Given the description of an element on the screen output the (x, y) to click on. 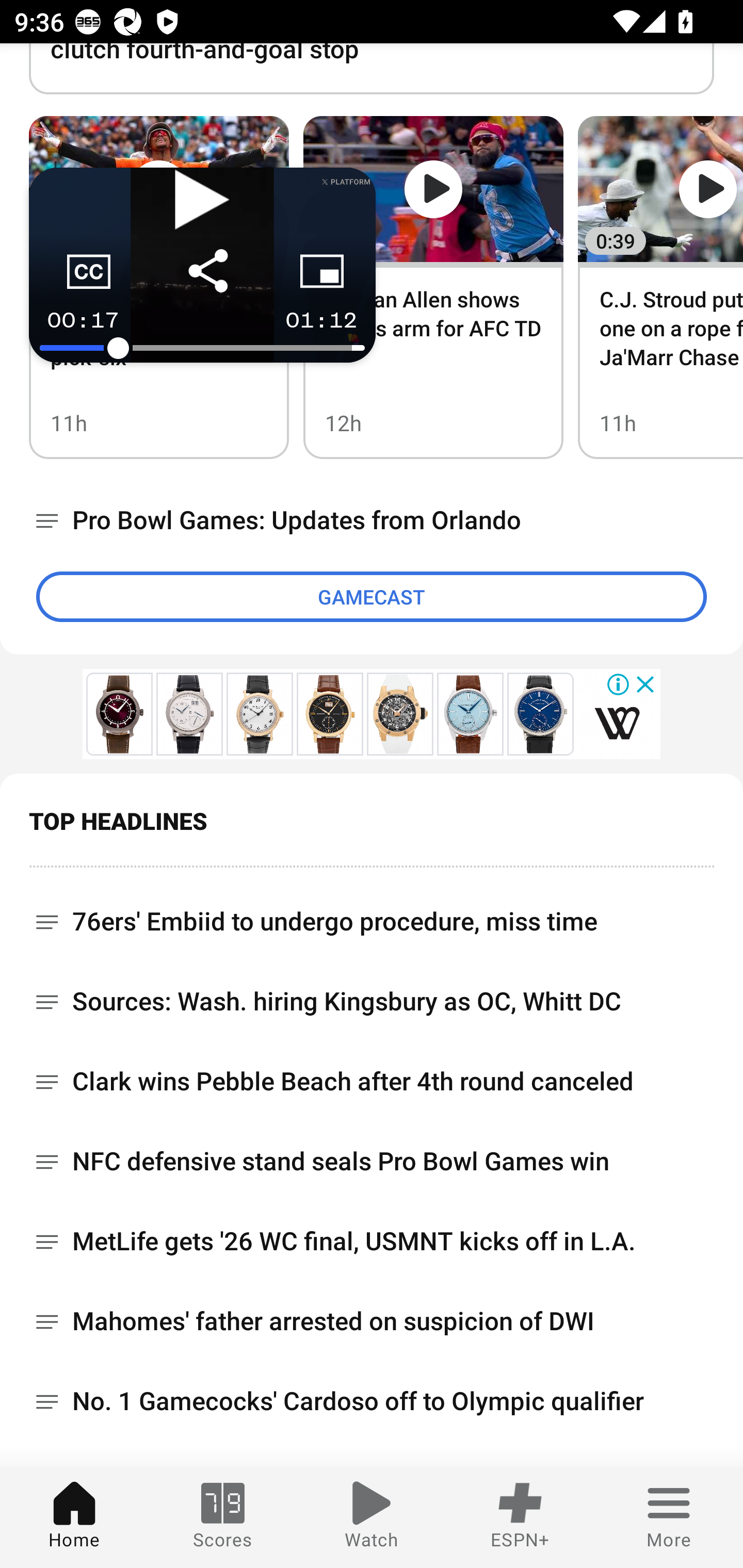
 Pro Bowl Games: Updates from Orlando (371, 521)
GAMECAST (371, 596)
4918025 (118, 713)
4933172 (188, 713)
4825881 (259, 713)
4887386 (329, 713)
4906442 (400, 713)
4758132 (470, 713)
4796256 (540, 713)
4918025 (616, 723)
 76ers' Embiid to undergo procedure, miss time (371, 914)
 Sources: Wash. hiring Kingsbury as OC, Whitt DC (371, 1001)
 Clark wins Pebble Beach after 4th round canceled (371, 1081)
 NFC defensive stand seals Pro Bowl Games win (371, 1161)
 Mahomes' father arrested on suspicion of DWI (371, 1321)
Scores (222, 1517)
Watch (371, 1517)
ESPN+ (519, 1517)
More (668, 1517)
